Given the description of an element on the screen output the (x, y) to click on. 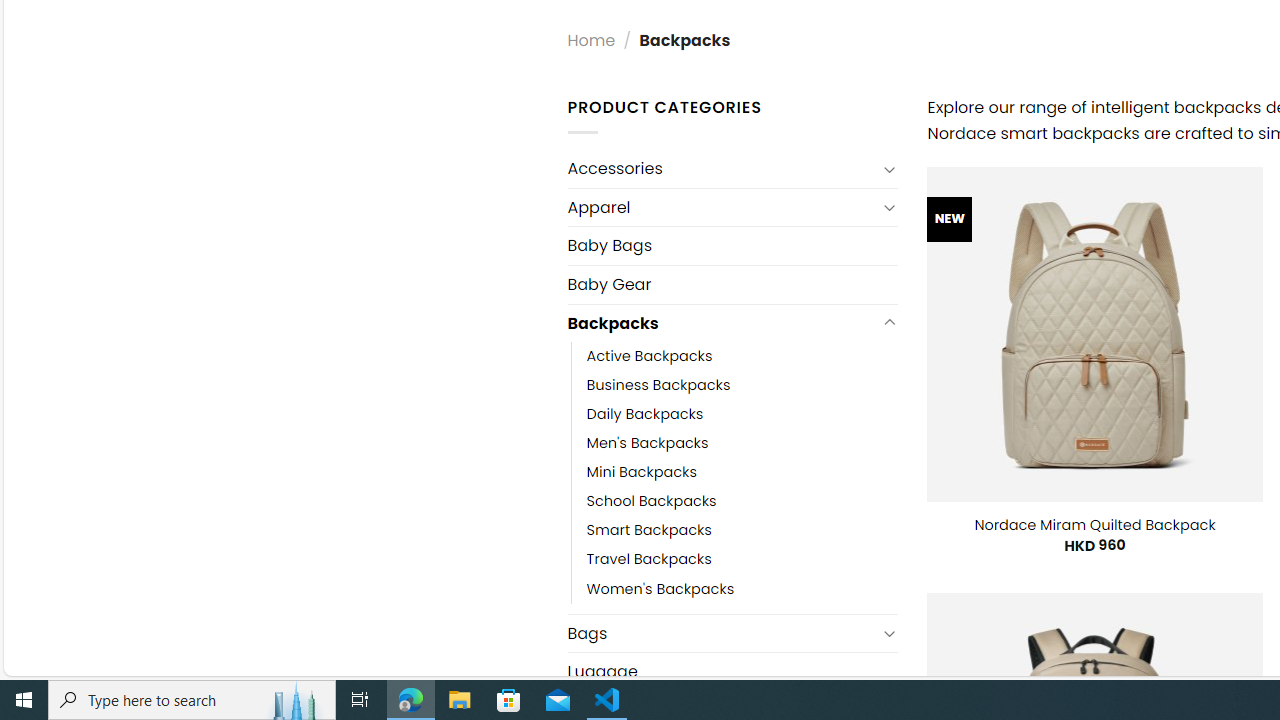
Mini Backpacks (742, 472)
Mini Backpacks (641, 472)
Accessories (721, 168)
Daily Backpacks (742, 414)
Smart Backpacks (648, 530)
Home (591, 39)
Baby Gear (732, 283)
Bags (721, 633)
Nordace Miram Quilted Backpack (1095, 524)
Travel Backpacks (742, 560)
Baby Bags (732, 245)
